Given the description of an element on the screen output the (x, y) to click on. 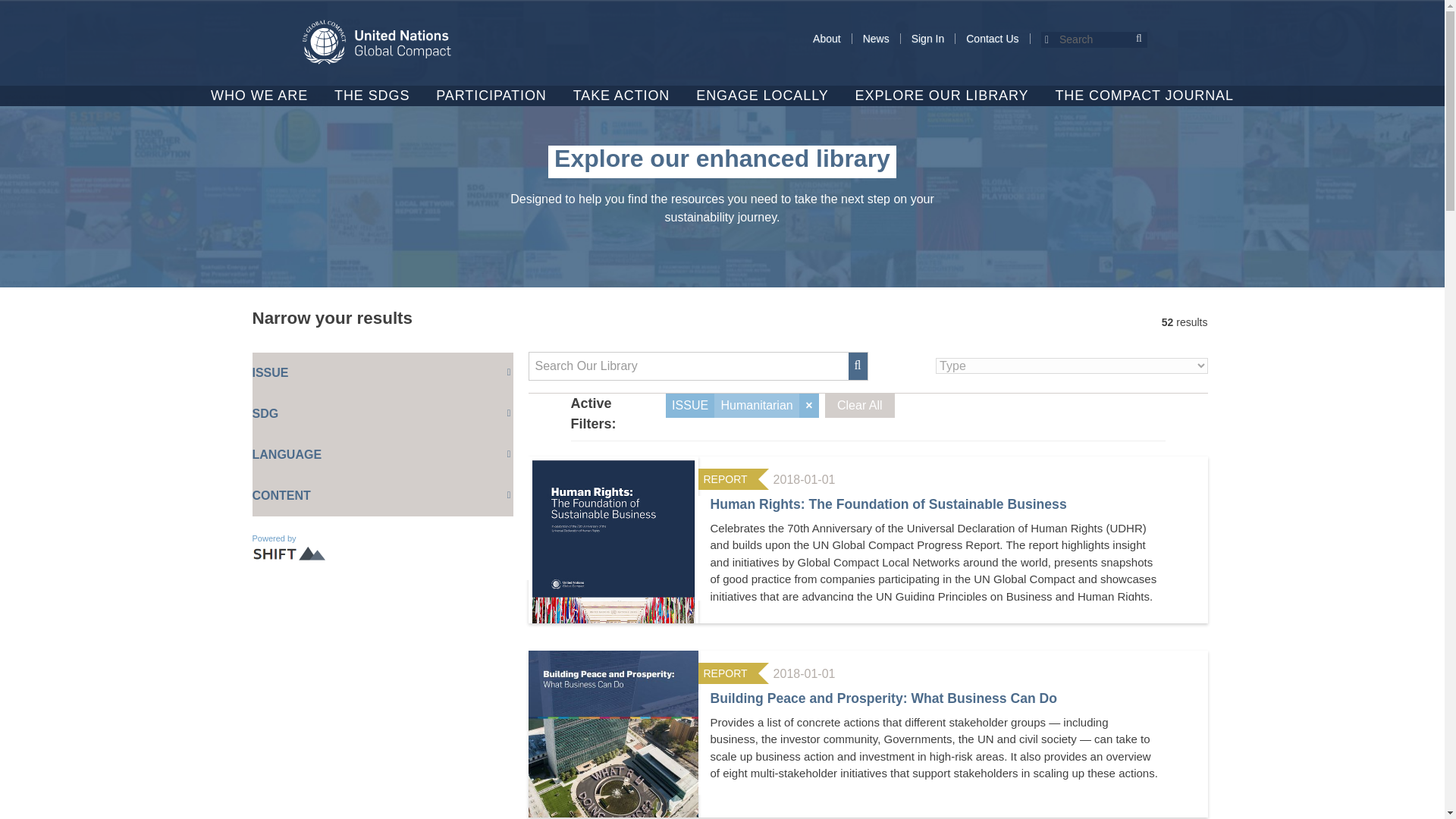
Powered by (290, 548)
THE SDGS (371, 95)
About (826, 38)
EXPLORE OUR LIBRARY (942, 95)
LANGUAGE (381, 454)
Contact Us (992, 38)
translation missing: en.report (725, 673)
translation missing: en.report (725, 479)
SDG (381, 413)
ENGAGE LOCALLY (762, 95)
